Given the description of an element on the screen output the (x, y) to click on. 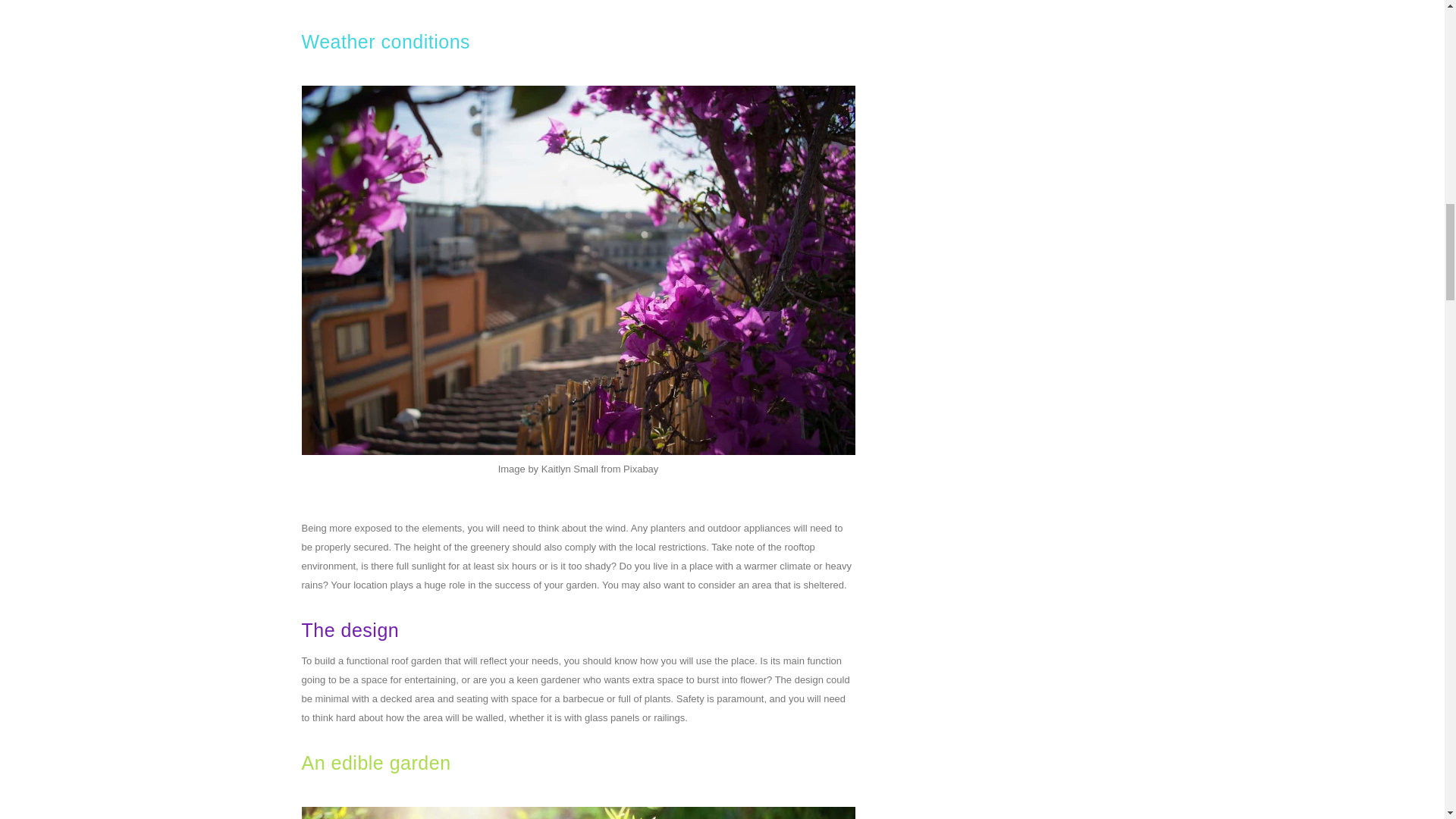
Roof Garden Ideas (578, 812)
